Given the description of an element on the screen output the (x, y) to click on. 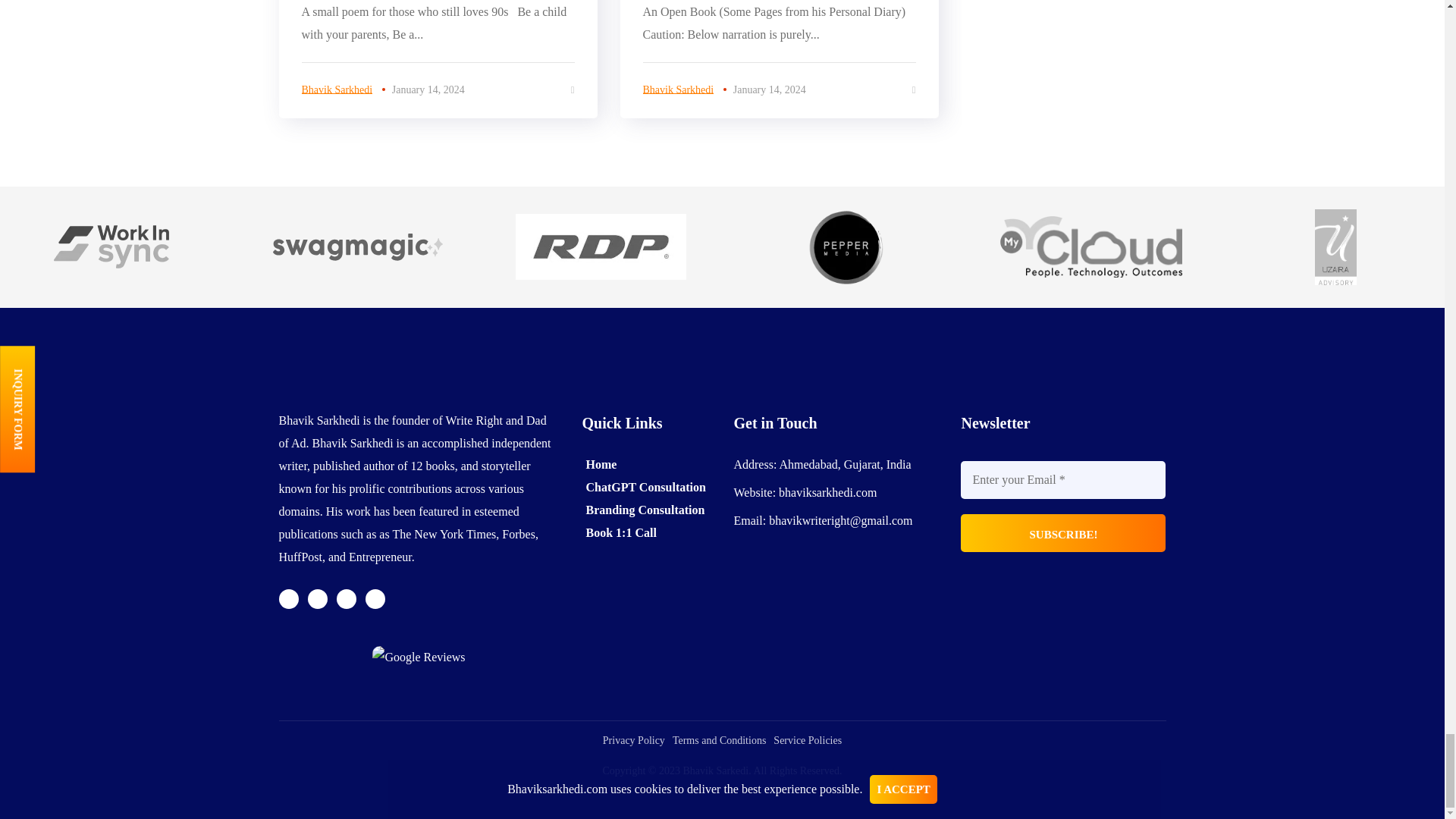
Subscribe! (1063, 533)
Enter your Email (1063, 479)
Instagram (346, 598)
Linkedin (375, 598)
Facebook (317, 598)
Twitter (288, 598)
